Given the description of an element on the screen output the (x, y) to click on. 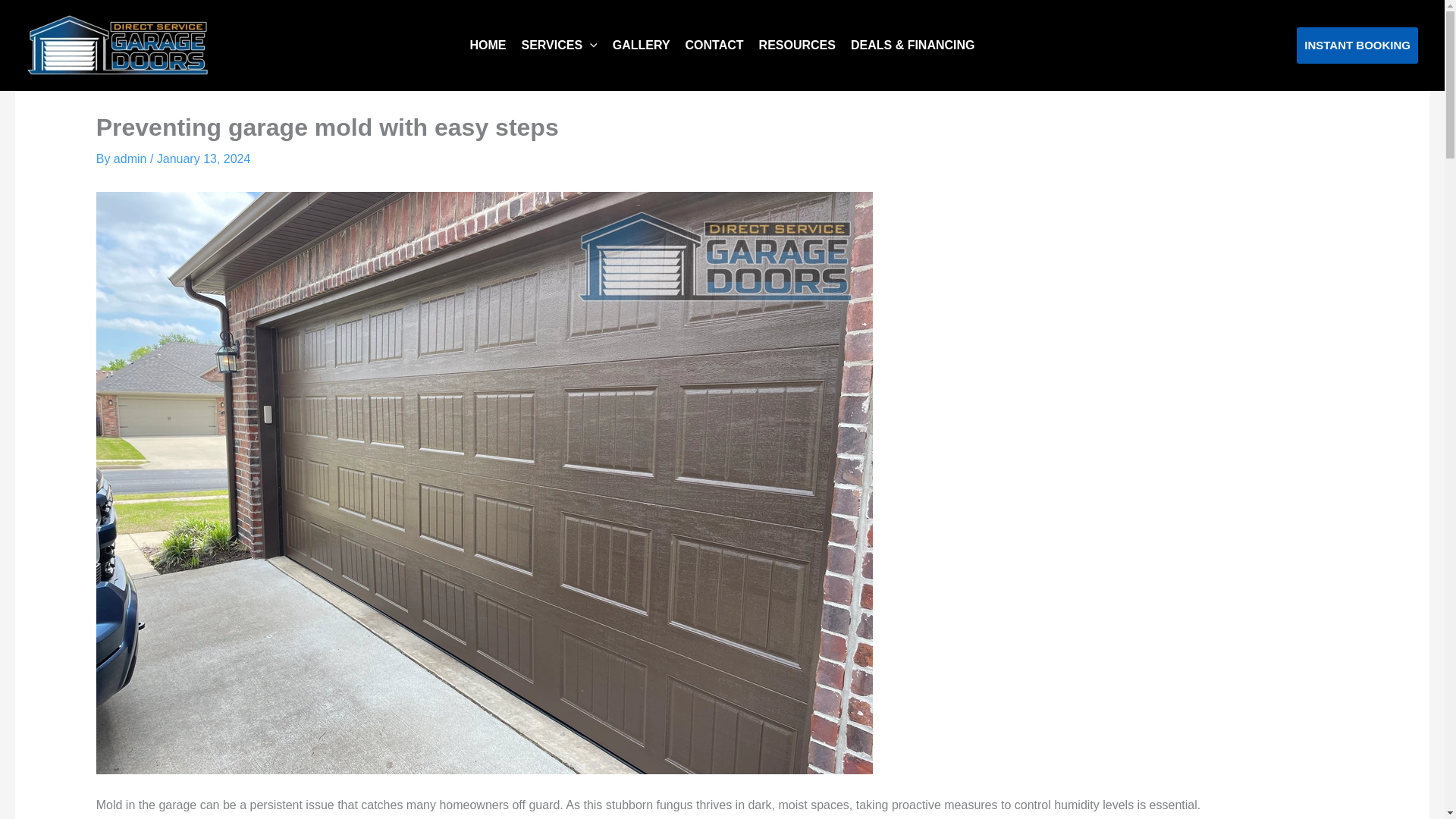
INSTANT BOOKING (1357, 45)
SERVICES (558, 45)
admin (131, 158)
View all posts by admin (131, 158)
RESOURCES (797, 45)
